Given the description of an element on the screen output the (x, y) to click on. 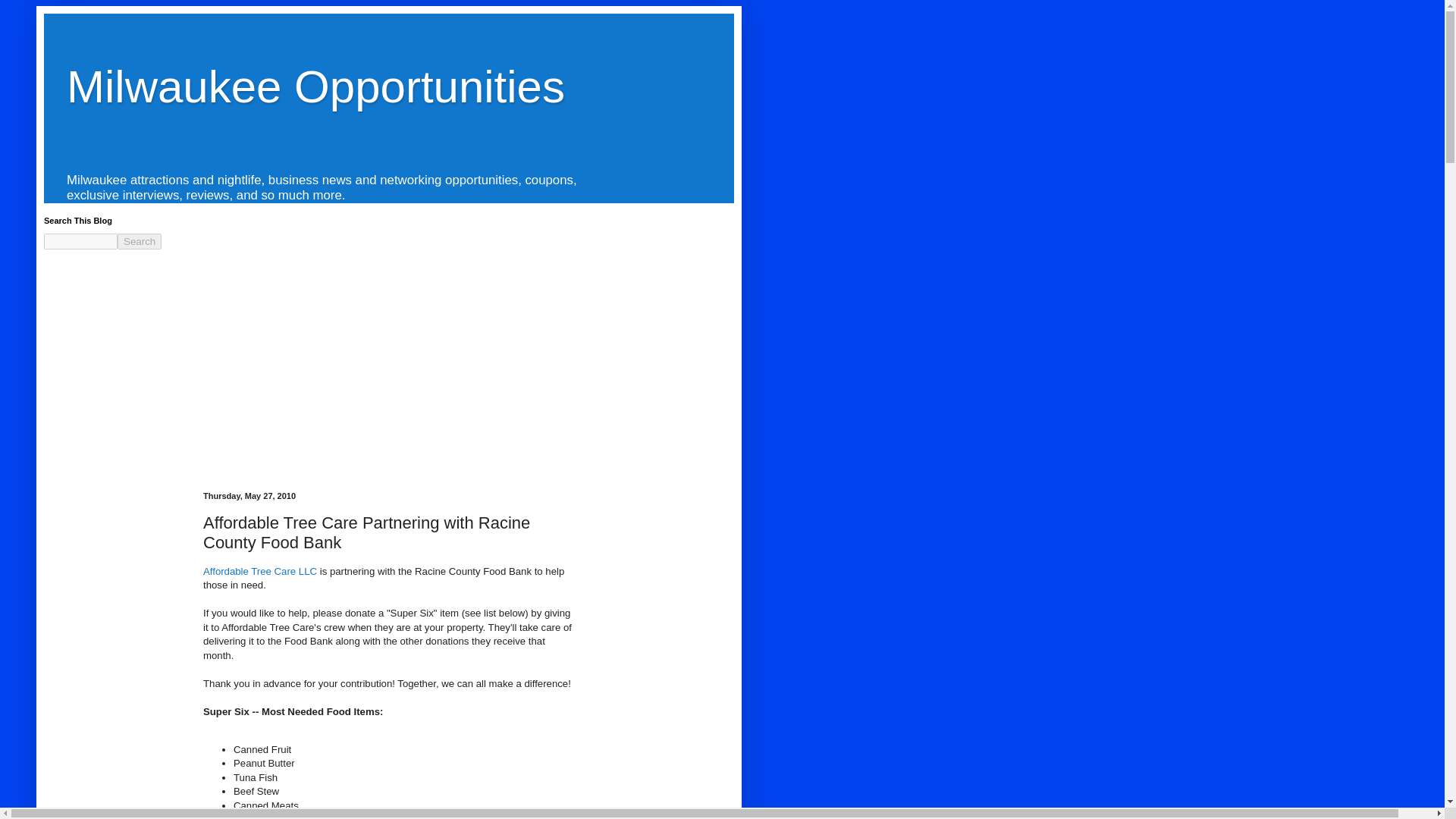
Milwaukee Opportunities (315, 86)
Search (139, 241)
Advertisement (389, 377)
search (139, 241)
Affordable Tree Care LLC (260, 571)
Search (139, 241)
Search (139, 241)
search (80, 241)
